Given the description of an element on the screen output the (x, y) to click on. 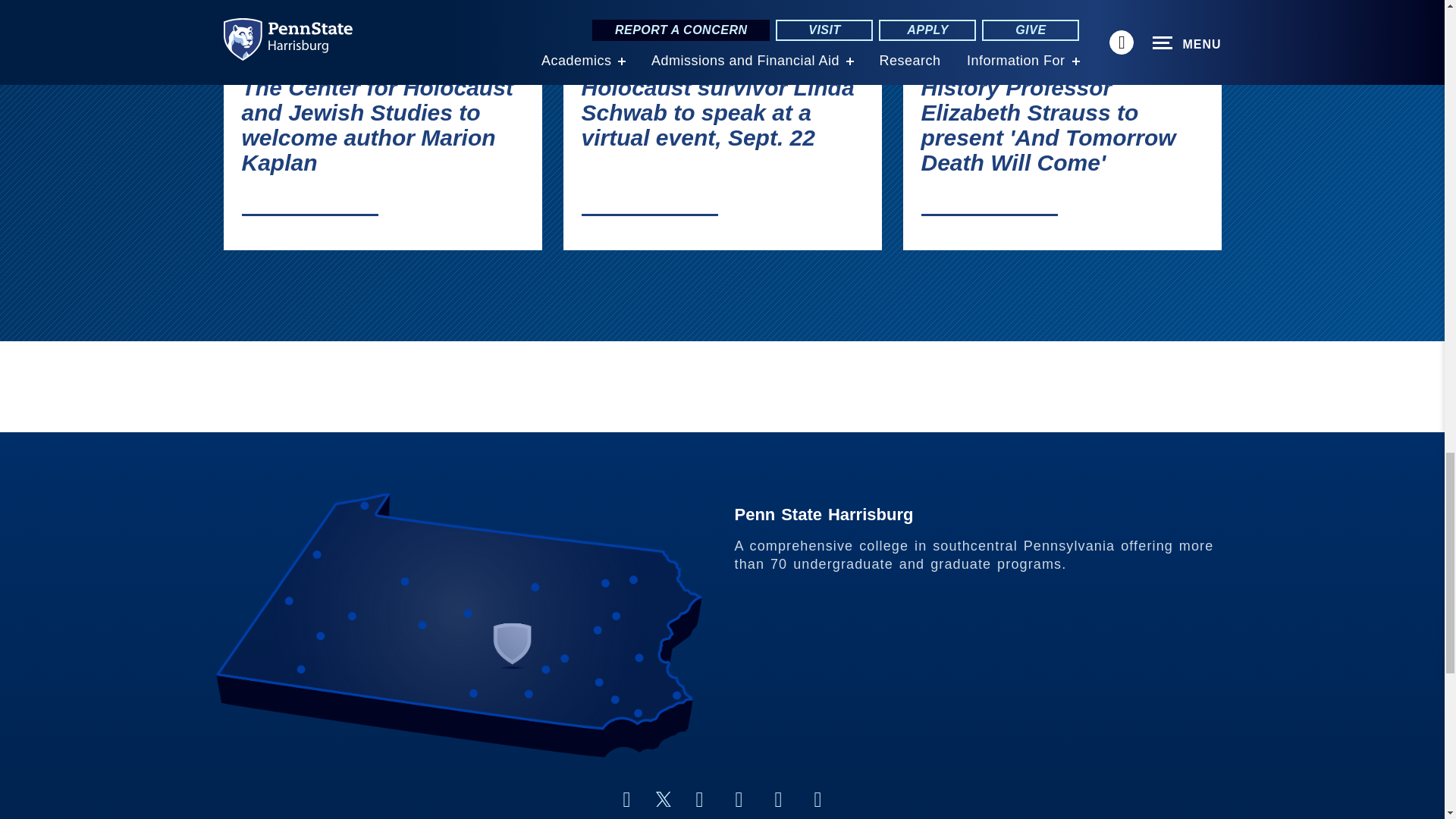
facebook (626, 799)
linkedin (699, 799)
youtube (778, 799)
flickr (738, 799)
